Given the description of an element on the screen output the (x, y) to click on. 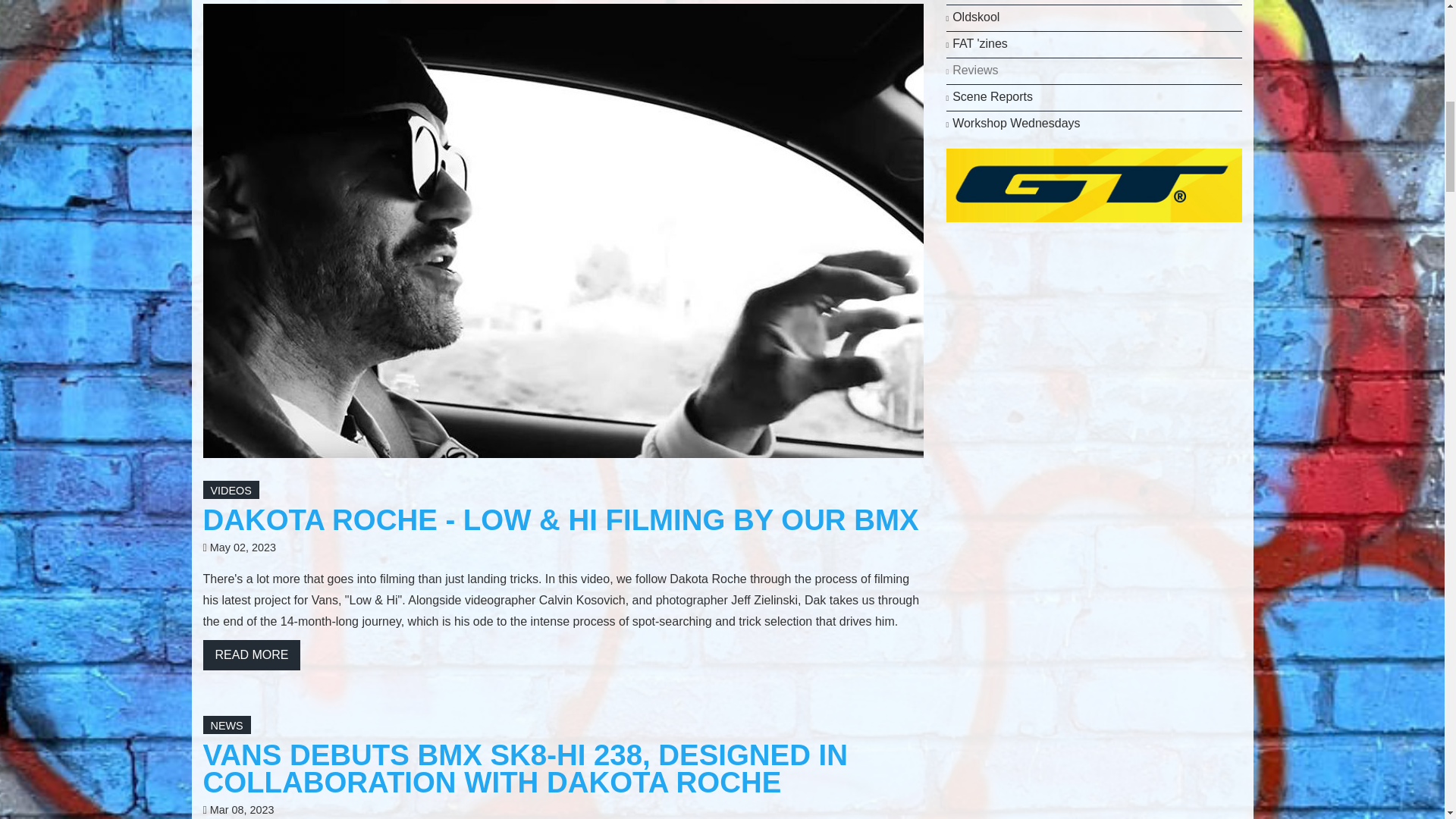
READ MORE (252, 654)
GT BMX (1093, 184)
NEWS (227, 725)
VIDEOS (231, 490)
